Given the description of an element on the screen output the (x, y) to click on. 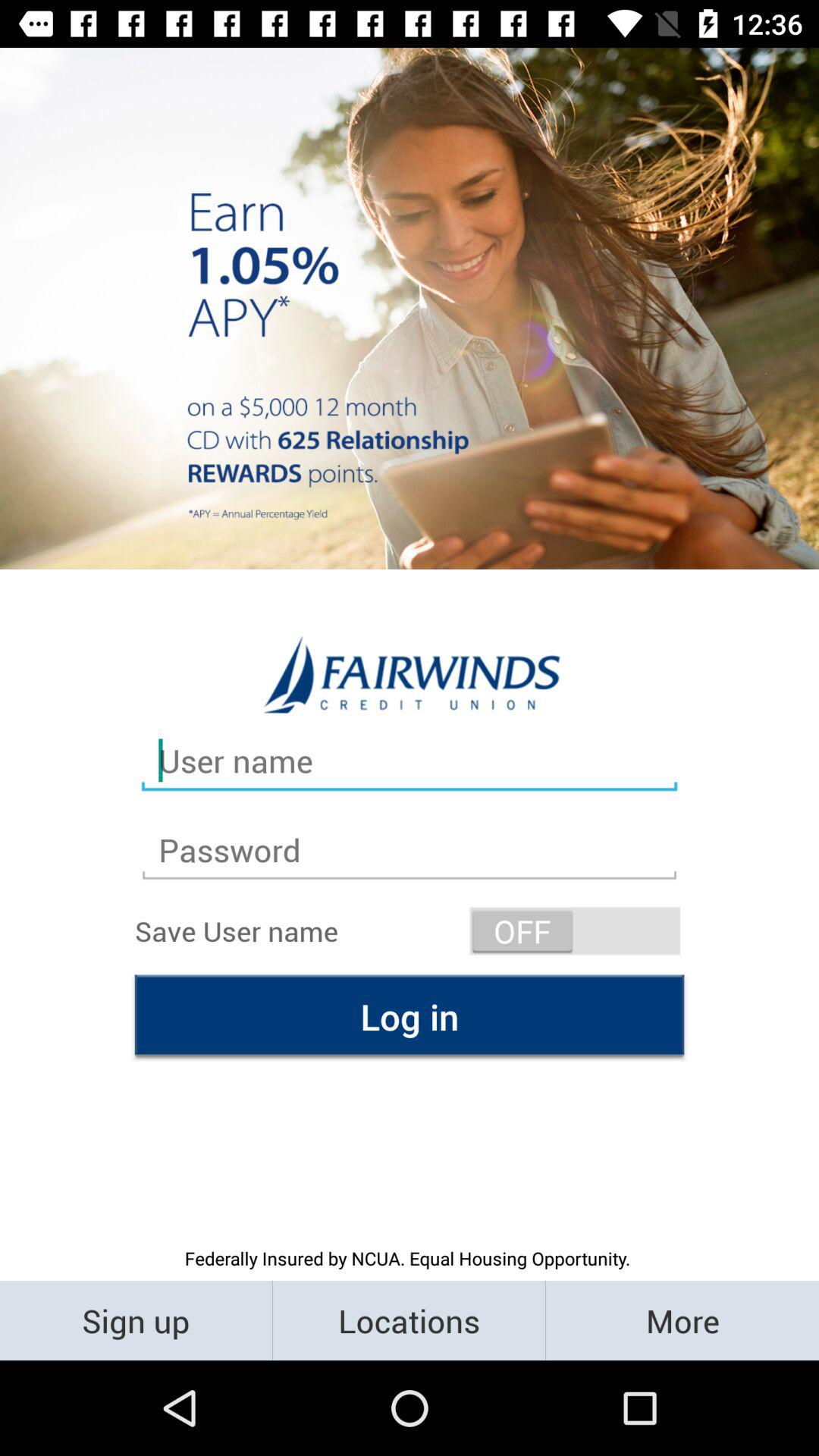
scroll to the more item (682, 1320)
